Given the description of an element on the screen output the (x, y) to click on. 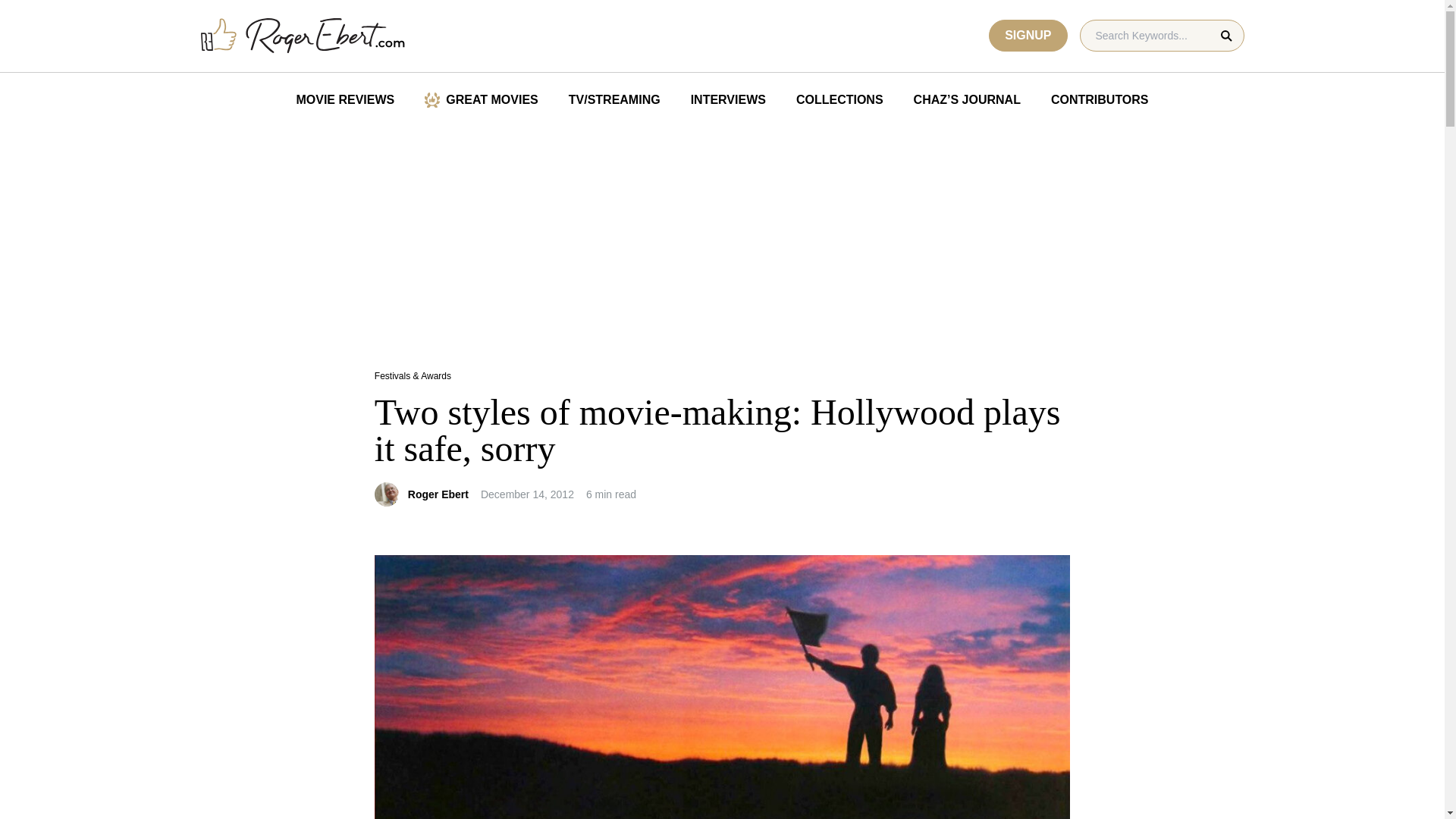
CONTRIBUTORS (1099, 100)
Roger Ebert (437, 494)
GREAT MOVIES (481, 100)
INTERVIEWS (727, 100)
MOVIE REVIEWS (345, 100)
COLLECTIONS (839, 100)
SIGNUP (1027, 35)
